Given the description of an element on the screen output the (x, y) to click on. 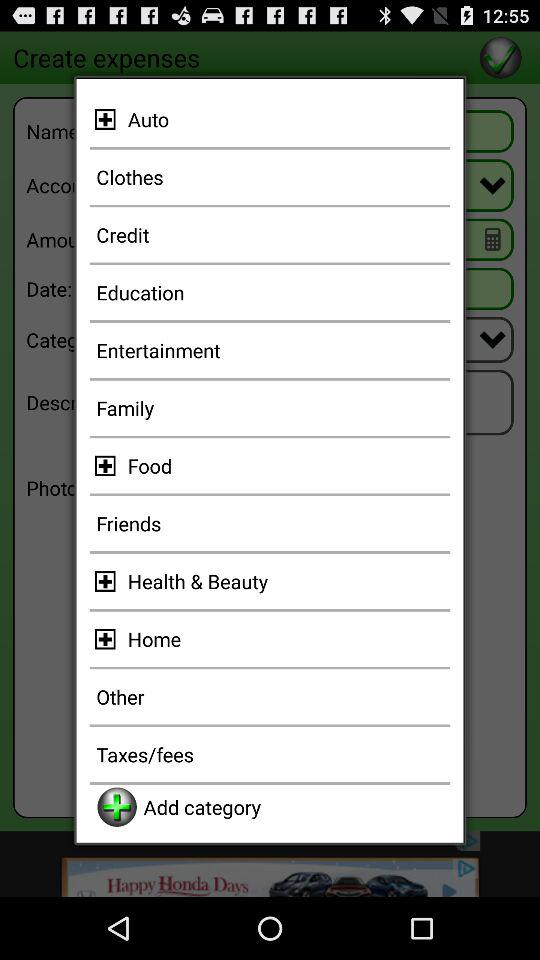
expplore food catregory option (108, 465)
